Given the description of an element on the screen output the (x, y) to click on. 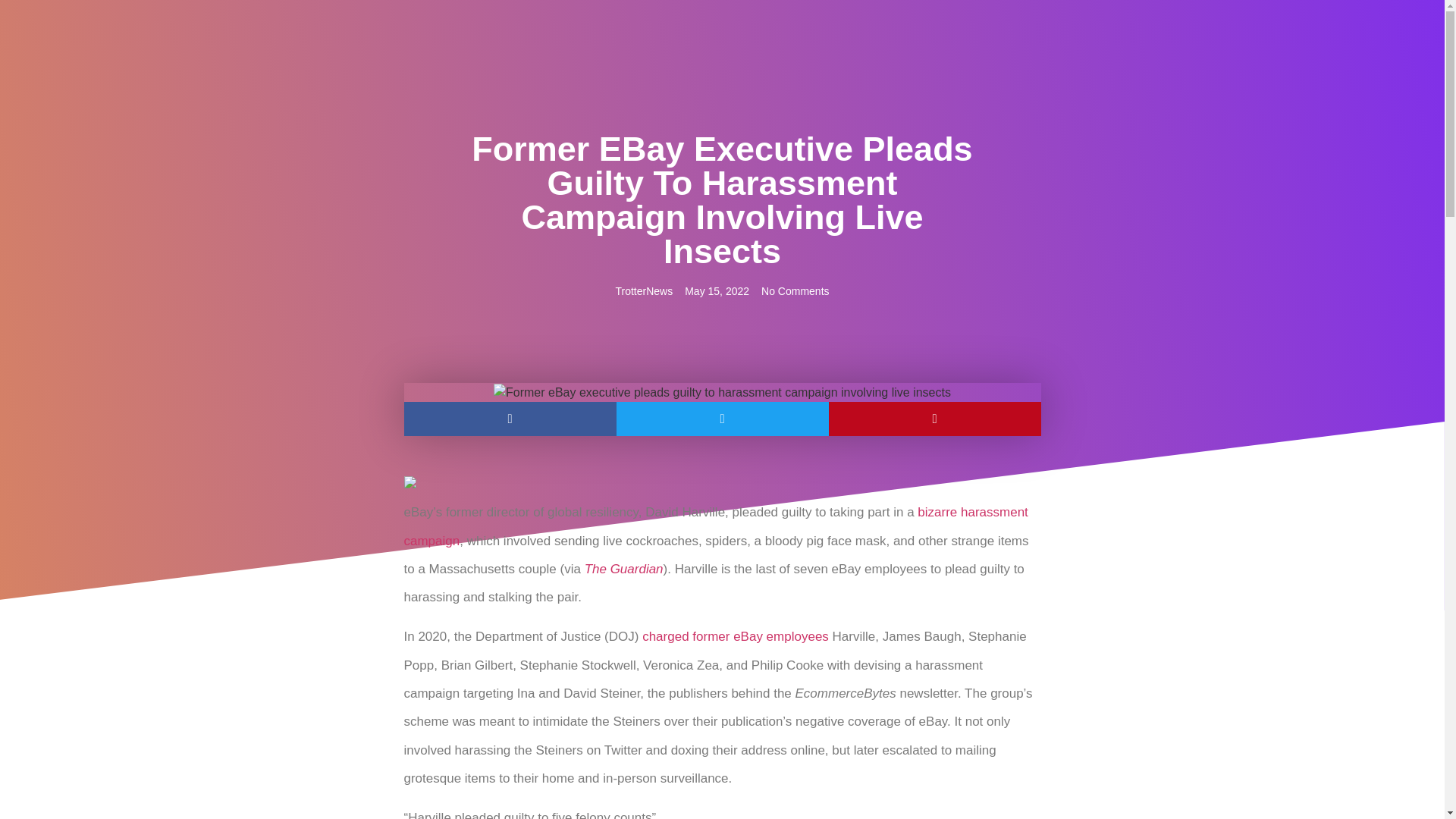
No Comments (794, 291)
charged former eBay employees (735, 636)
The Guardian (624, 568)
bizarre harassment campaign (715, 526)
May 15, 2022 (716, 291)
TrotterNews (643, 291)
